Given the description of an element on the screen output the (x, y) to click on. 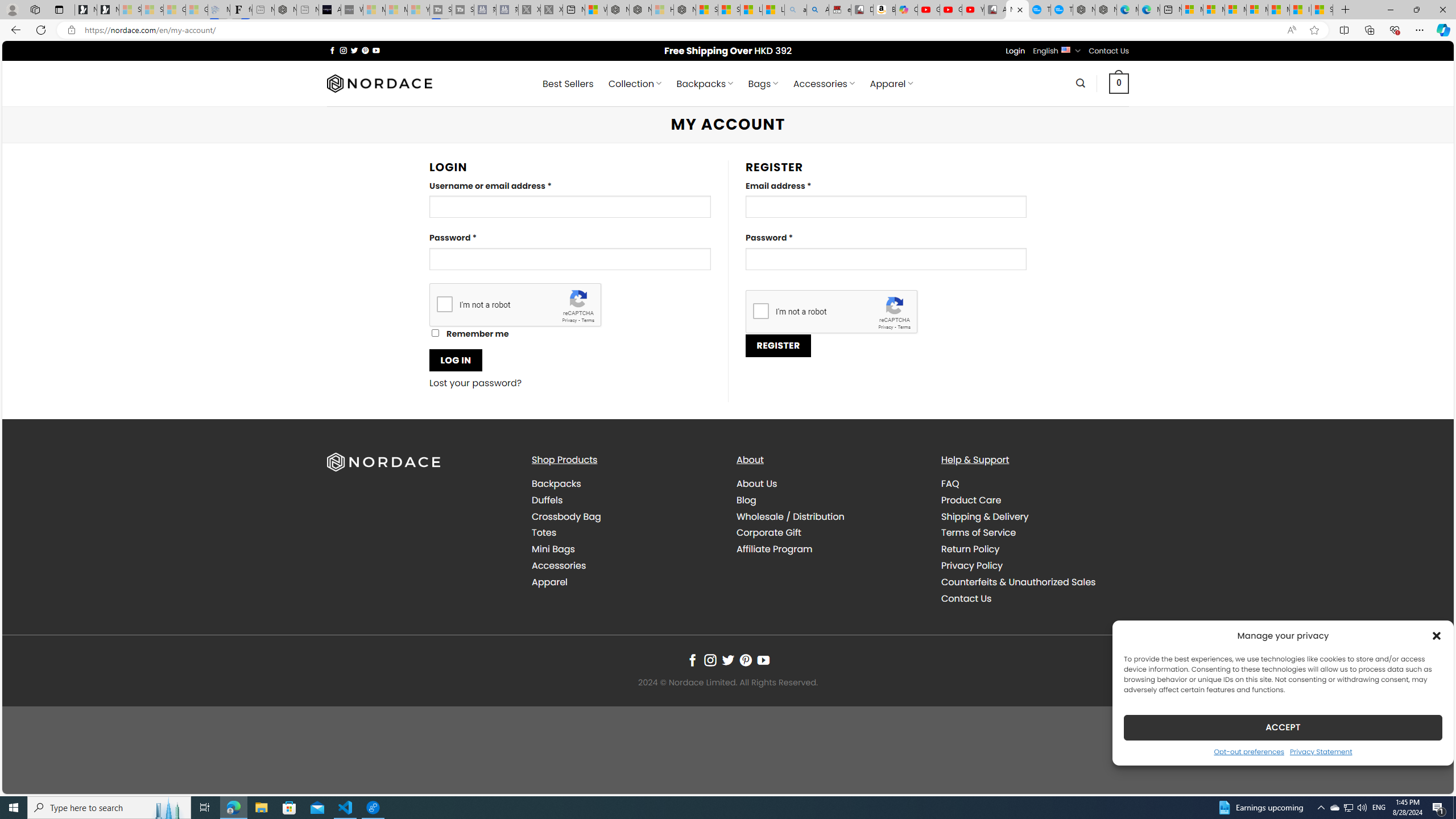
Microsoft Start Sports - Sleeping (374, 9)
Class: cmplz-close (1436, 635)
FAQ (949, 483)
Totes (543, 532)
Crossbody Bag (566, 516)
Mini Bags (625, 549)
About Us (830, 483)
Blog (746, 499)
